Given the description of an element on the screen output the (x, y) to click on. 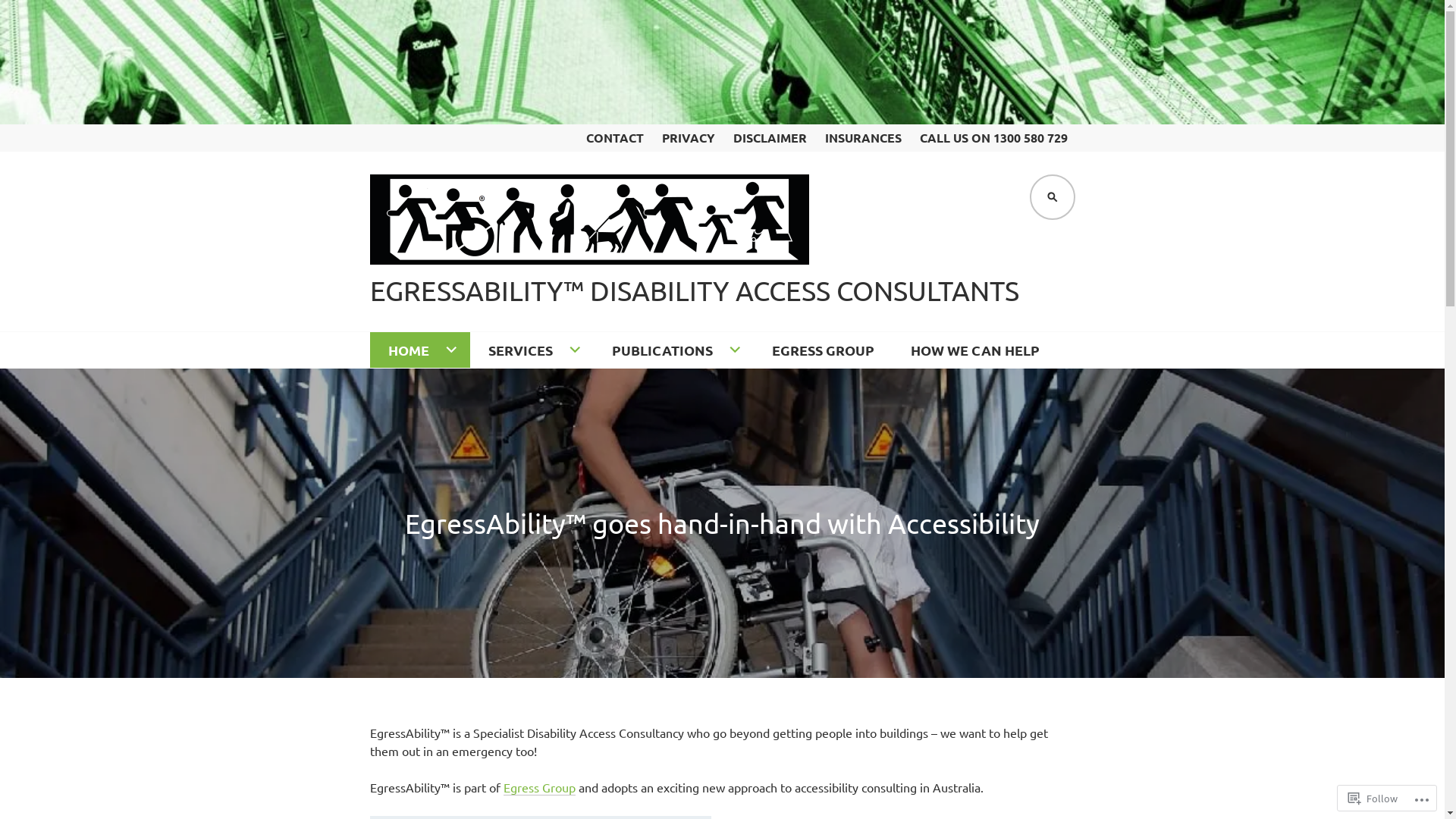
SERVICES Element type: text (531, 350)
CALL US ON 1300 580 729 Element type: text (992, 138)
Follow Element type: text (1372, 797)
INSURANCES Element type: text (863, 138)
Egress Group Element type: text (539, 787)
EGRESS GROUP Element type: text (822, 350)
PRIVACY Element type: text (687, 138)
HOME Element type: text (420, 350)
PUBLICATIONS Element type: text (673, 350)
DISCLAIMER Element type: text (769, 138)
HOW WE CAN HELP Element type: text (974, 350)
CONTACT Element type: text (614, 138)
